Given the description of an element on the screen output the (x, y) to click on. 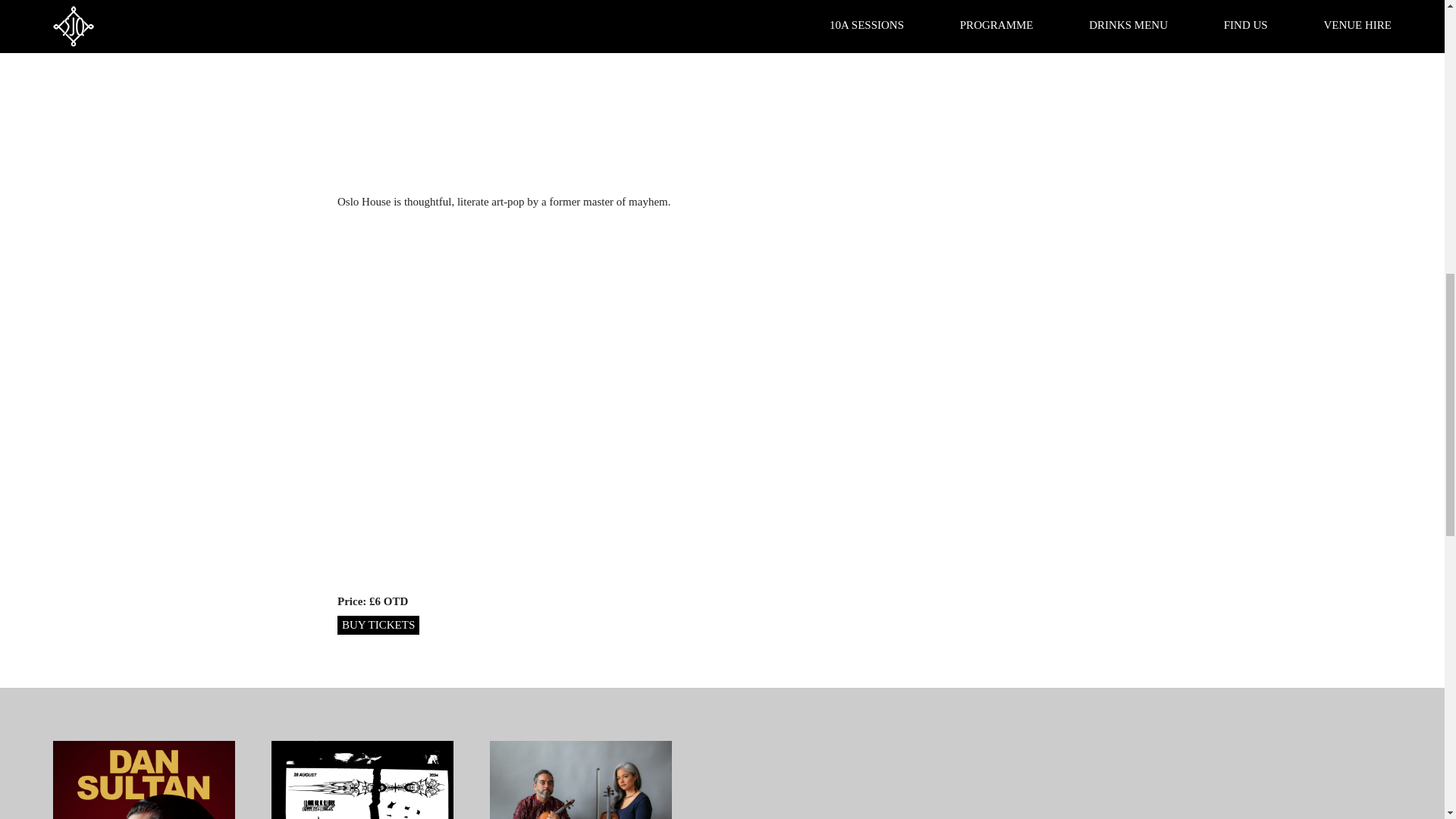
BUY TICKETS (378, 624)
